Given the description of an element on the screen output the (x, y) to click on. 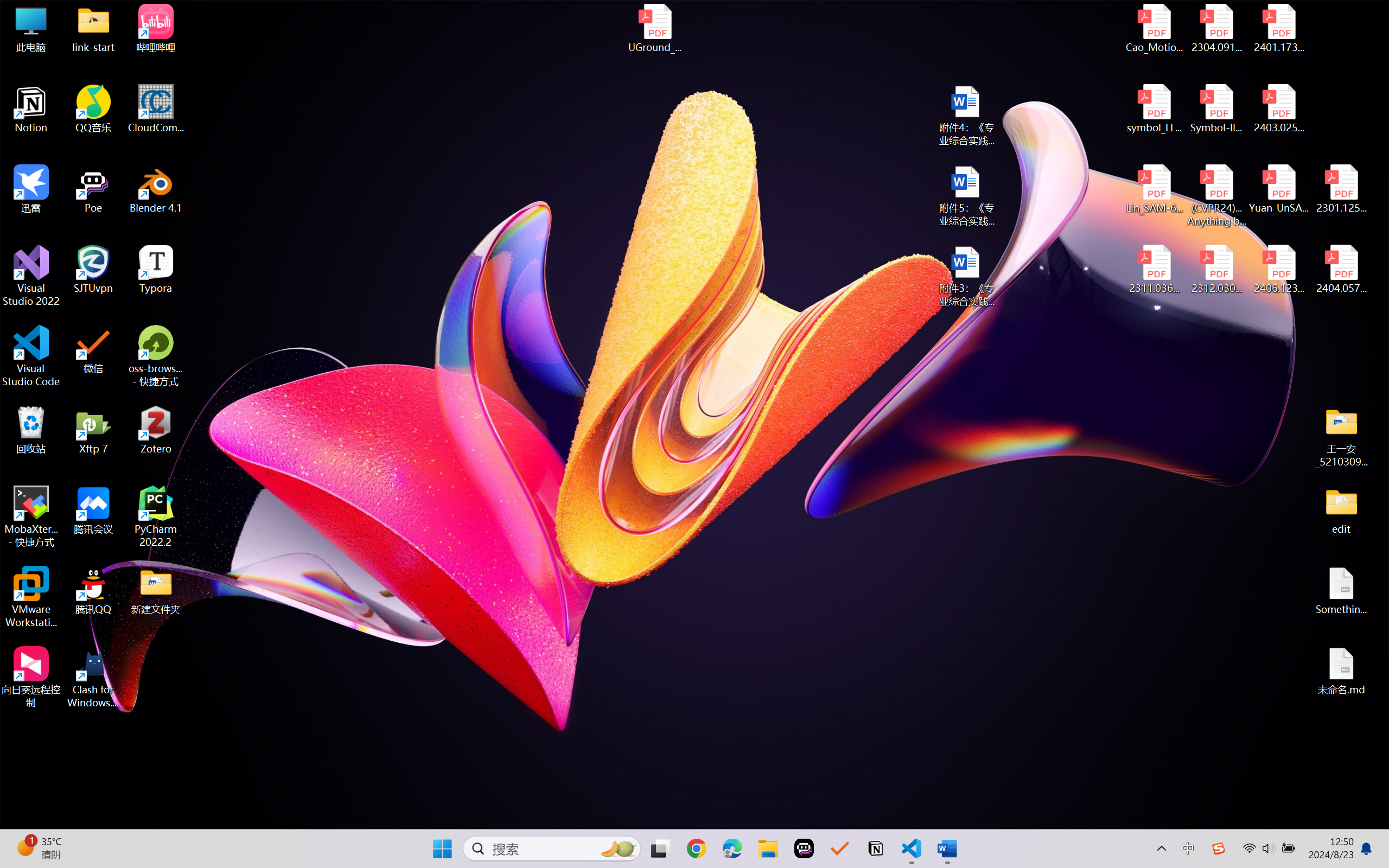
2401.17399v1.pdf (1278, 28)
edit (1340, 510)
Typora (156, 269)
2312.03032v2.pdf (1216, 269)
